Given the description of an element on the screen output the (x, y) to click on. 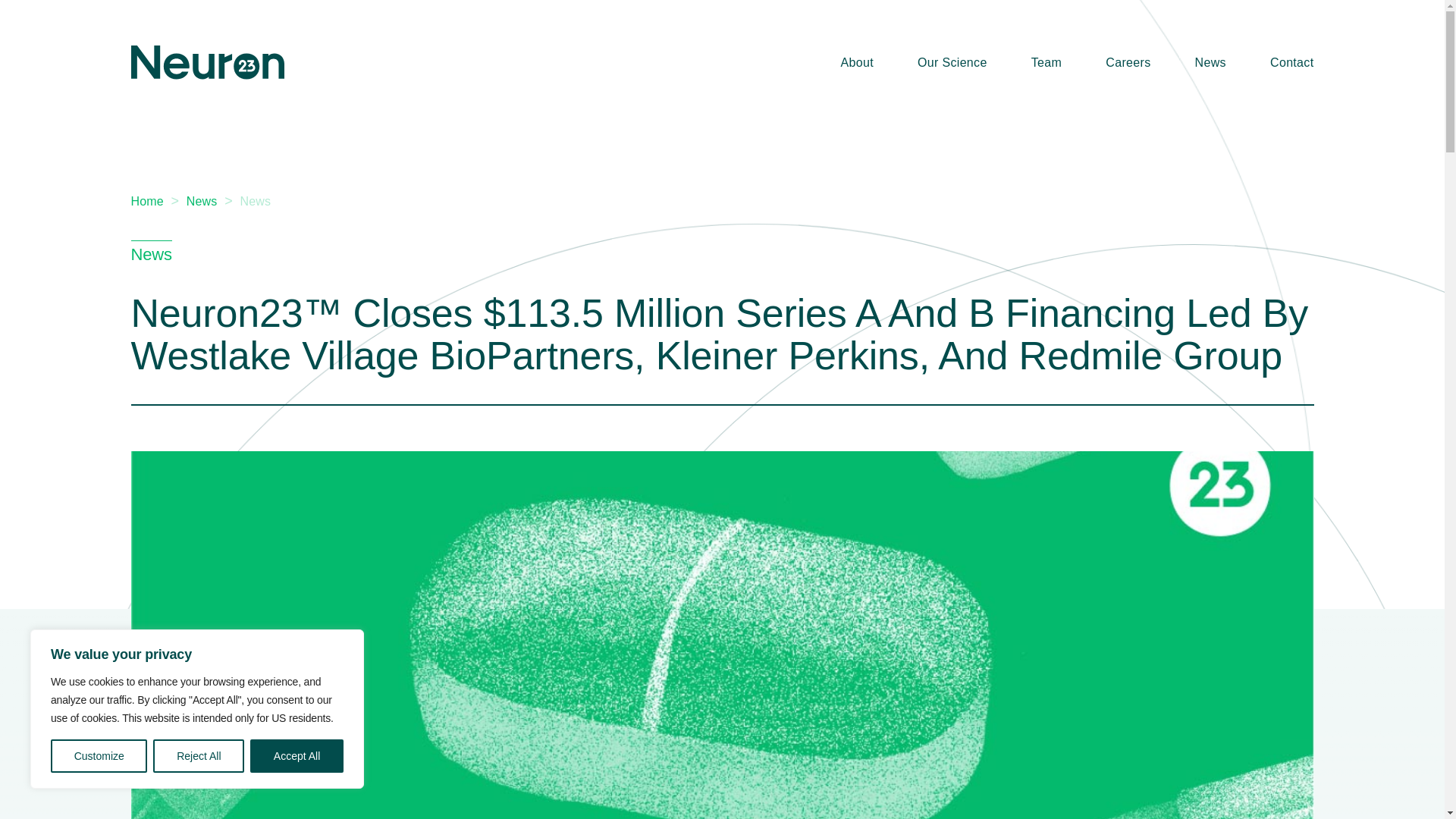
News (1210, 62)
News (255, 201)
About (856, 62)
Careers (1127, 62)
Customize (98, 756)
News (201, 201)
Accept All (296, 756)
Contact (1291, 62)
Our Science (952, 62)
Team (1045, 62)
Reject All (198, 756)
Home (147, 201)
